Given the description of an element on the screen output the (x, y) to click on. 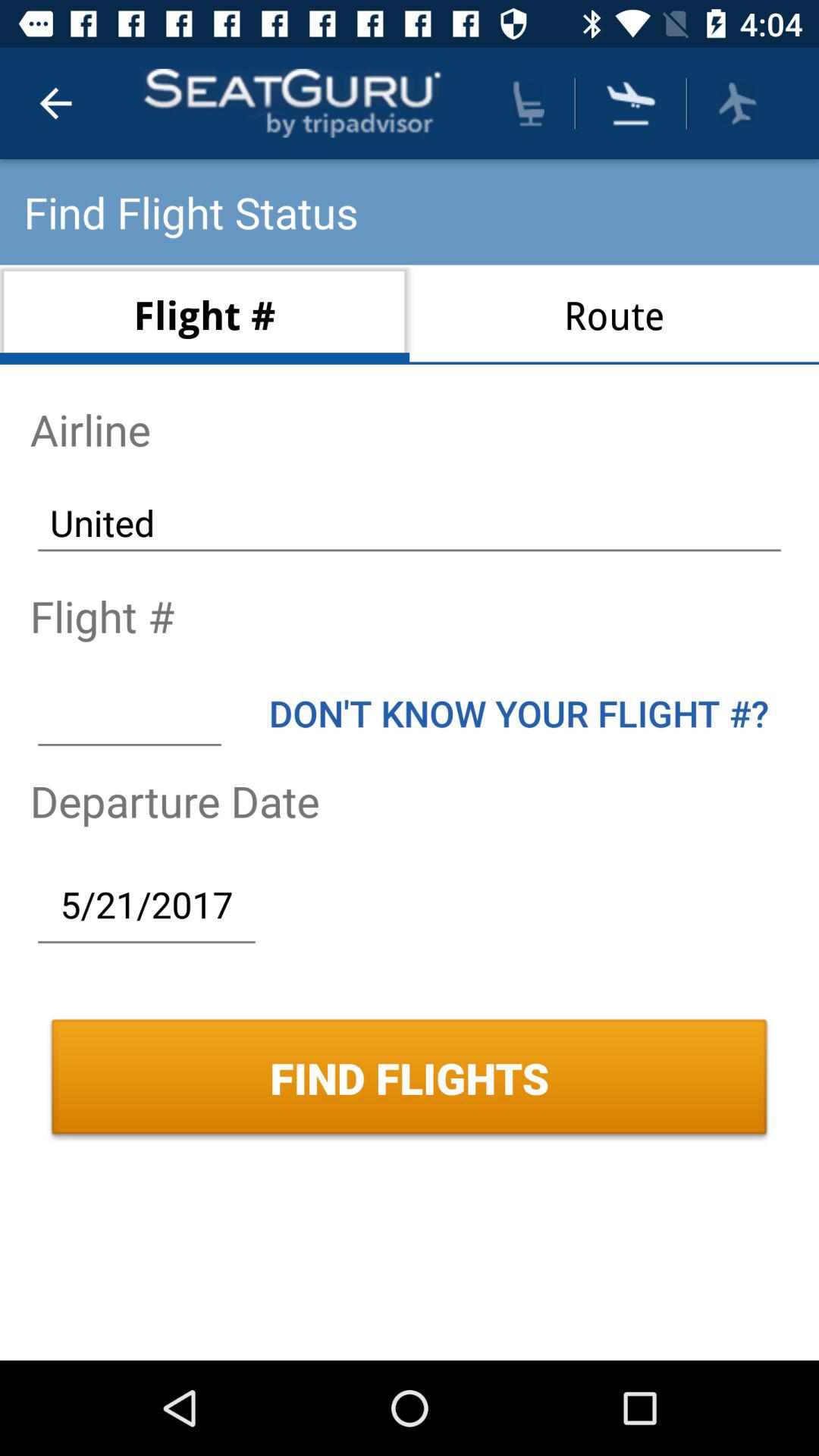
tap the item above flight # (409, 522)
